Given the description of an element on the screen output the (x, y) to click on. 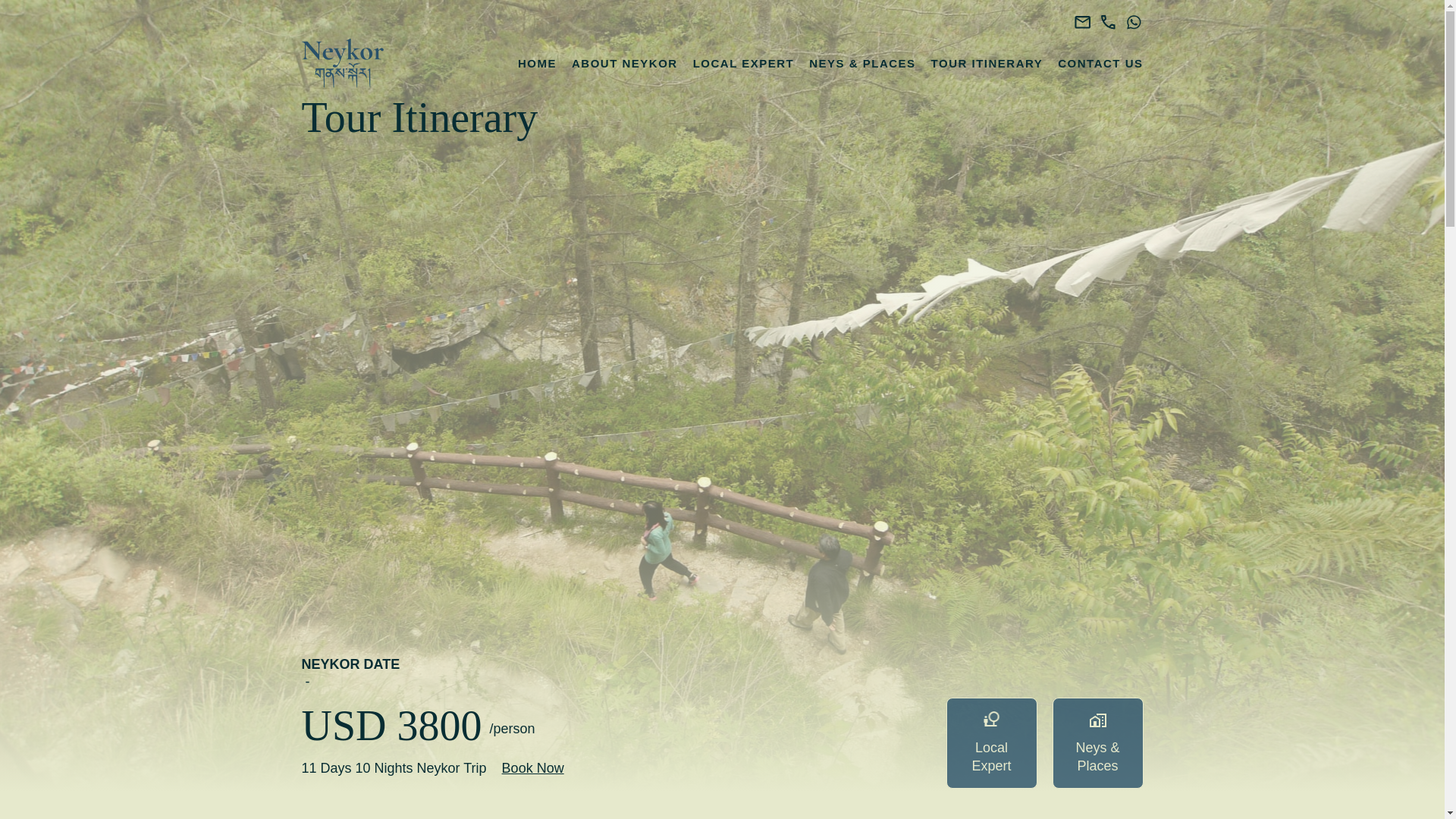
About Neykor (625, 63)
Book Now (533, 774)
Email Us (1084, 22)
Neykor Tour itinerary (987, 63)
Call Us (1110, 22)
HOME (537, 63)
LOCAL EXPERT (743, 63)
CONTACT US (1100, 63)
Whatsapp Us (1133, 22)
ABOUT NEYKOR (625, 63)
